Given the description of an element on the screen output the (x, y) to click on. 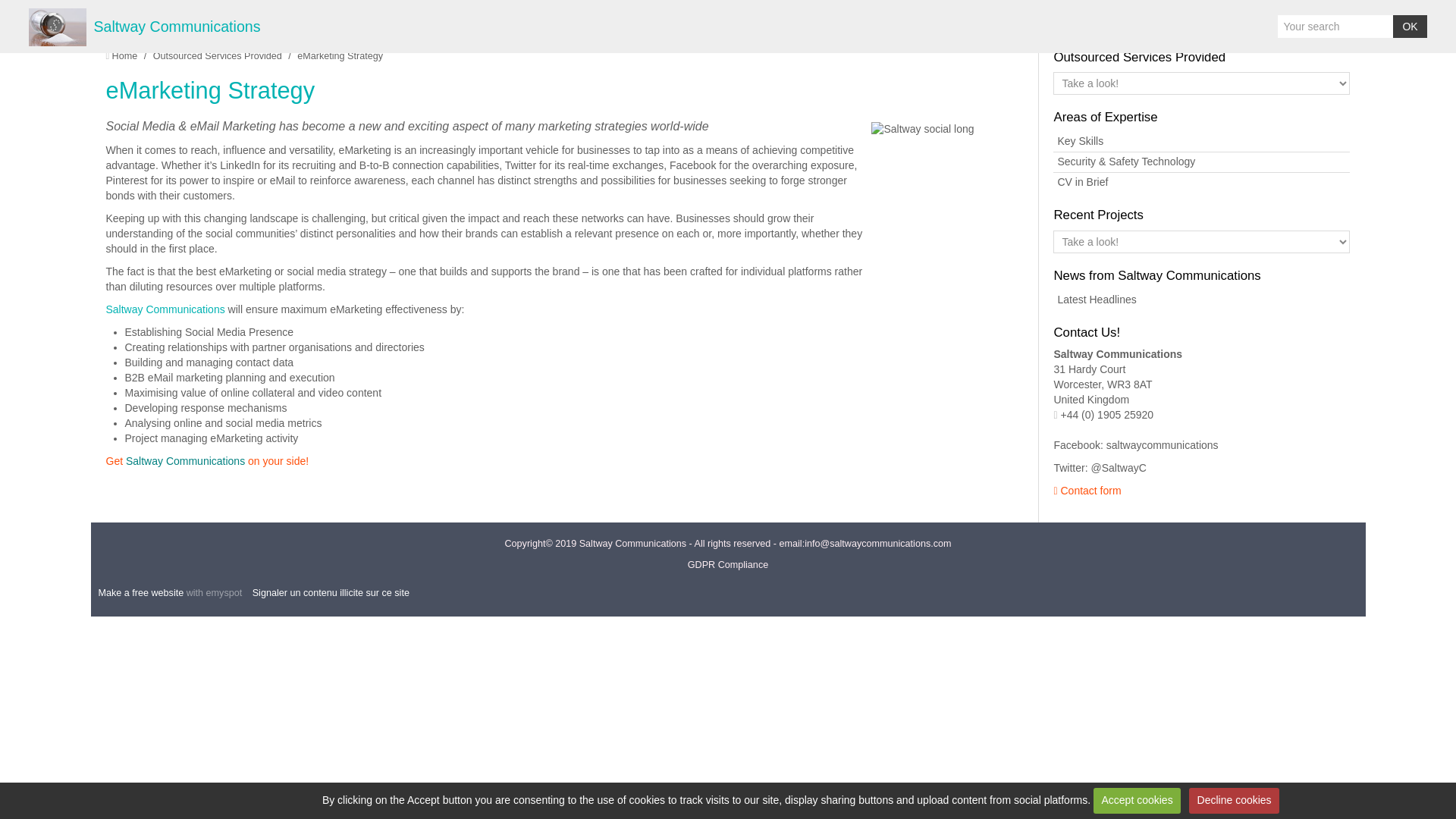
Saltway Communications (177, 26)
Home (125, 55)
OK (1409, 26)
GDPR Compliance (727, 564)
Get Saltway Communications on your side! (207, 460)
Outsourced Services Provided (1138, 56)
Outsourced Services Provided (217, 55)
Make a free website (141, 593)
Latest Headlines (1200, 300)
Saltway Communications (125, 55)
